Given the description of an element on the screen output the (x, y) to click on. 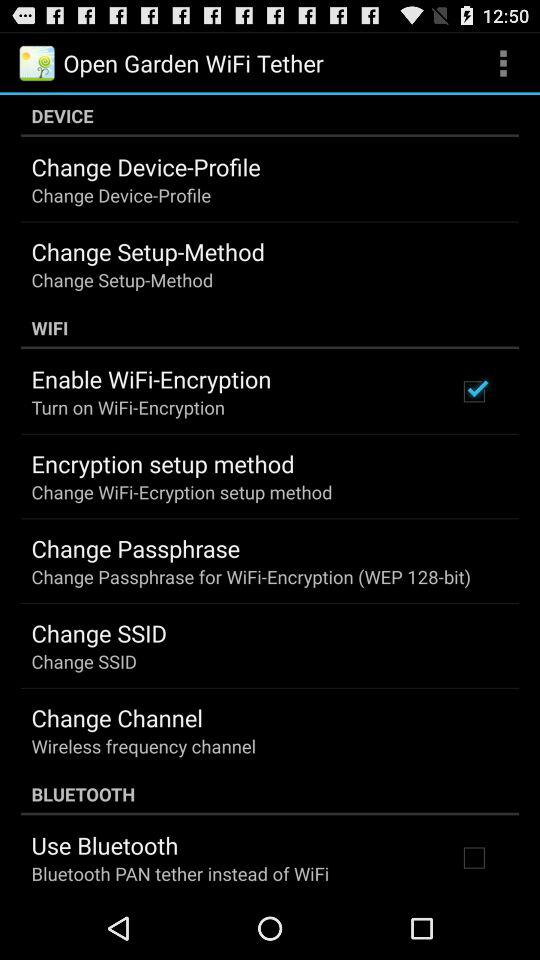
turn off the icon below the enable wifi-encryption item (127, 406)
